Given the description of an element on the screen output the (x, y) to click on. 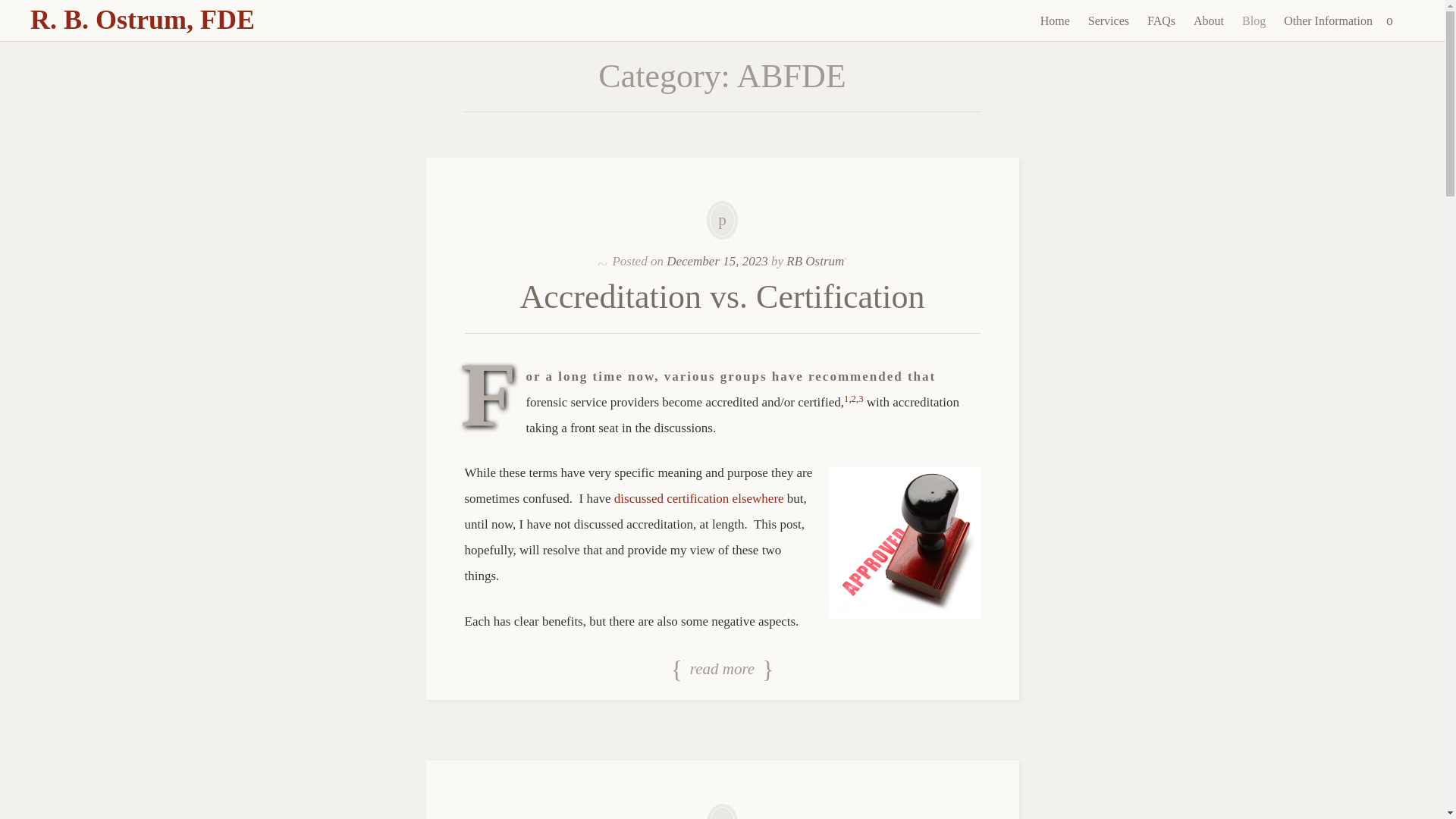
discussed certification elsewhere (699, 498)
R. B. Ostrum, FDE (142, 19)
Accreditation vs. Certification (721, 296)
read more (721, 670)
Services (1108, 21)
Blog (1253, 21)
About (1208, 21)
Home (1054, 21)
FAQs (1161, 21)
R. B. Ostrum, FDE (142, 19)
